Given the description of an element on the screen output the (x, y) to click on. 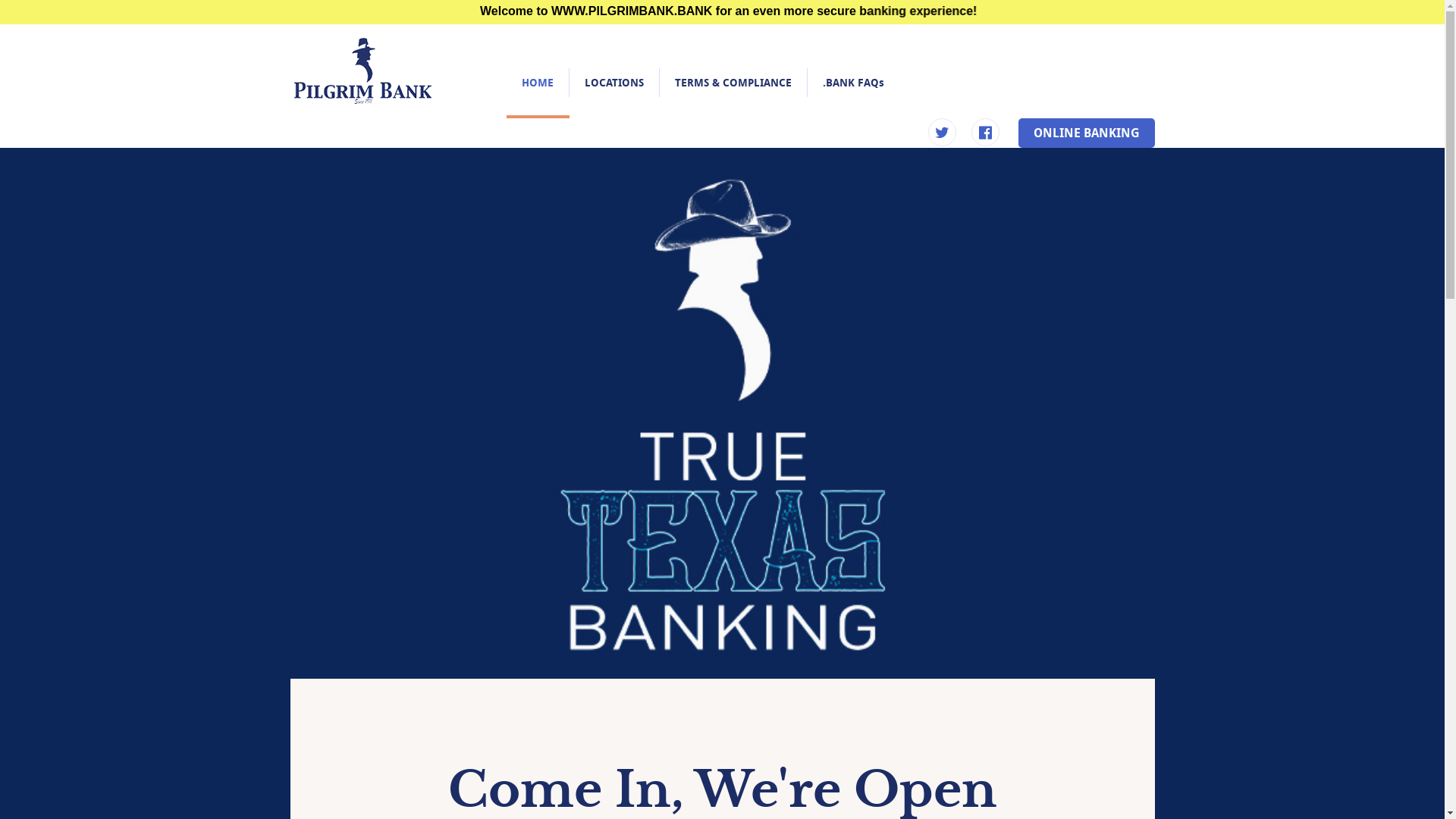
ONLINE BANKING Element type: text (1085, 132)
Facebook Element type: hover (984, 132)
Twitter Element type: hover (941, 132)
LOCATIONS Element type: text (613, 82)
.BANK FAQs Element type: text (852, 82)
TERMS & COMPLIANCE Element type: text (732, 82)
HOME Element type: text (537, 82)
